Given the description of an element on the screen output the (x, y) to click on. 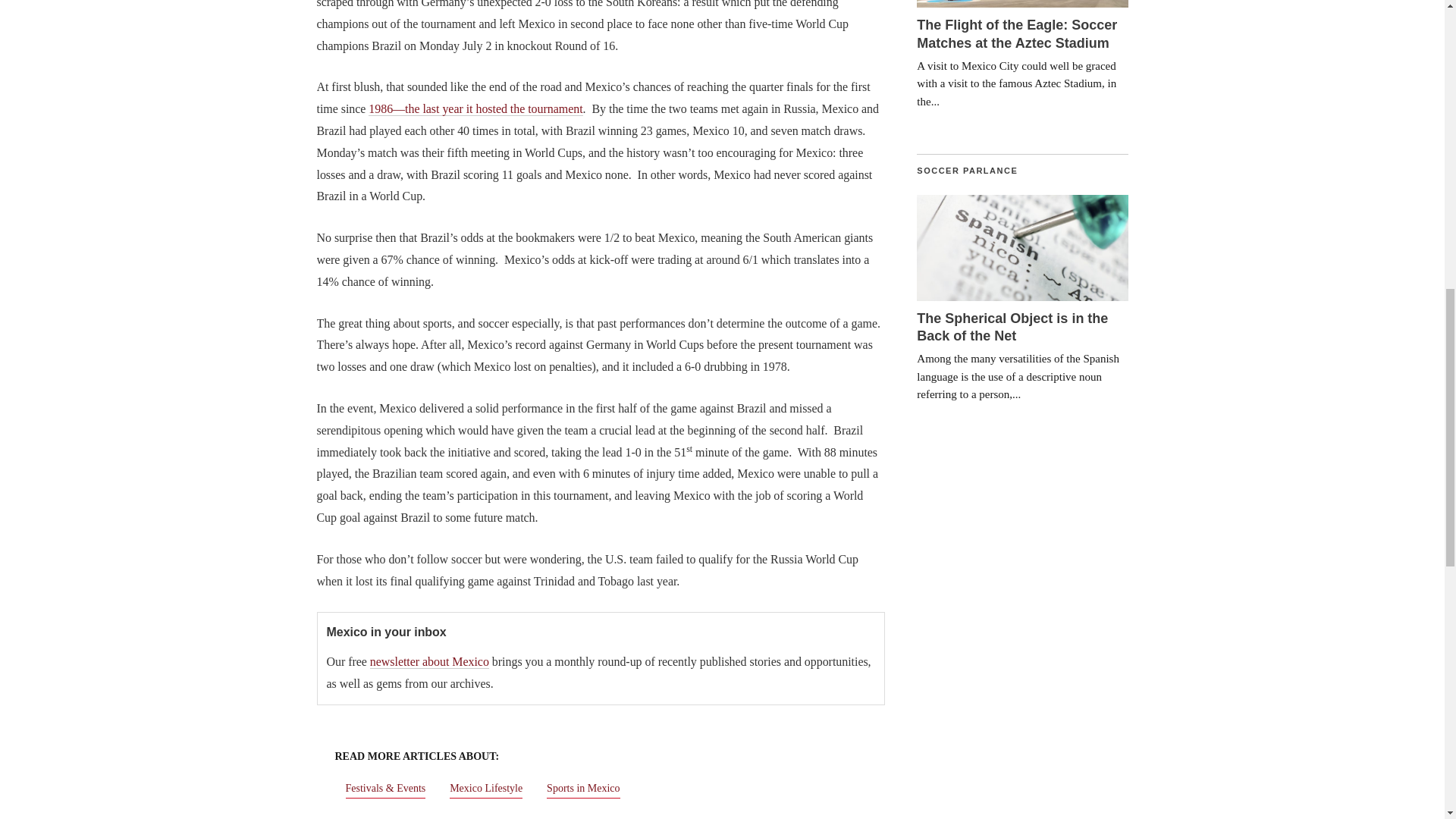
Permalink to The Spherical Object is in the Back of the Net (1021, 247)
